Given the description of an element on the screen output the (x, y) to click on. 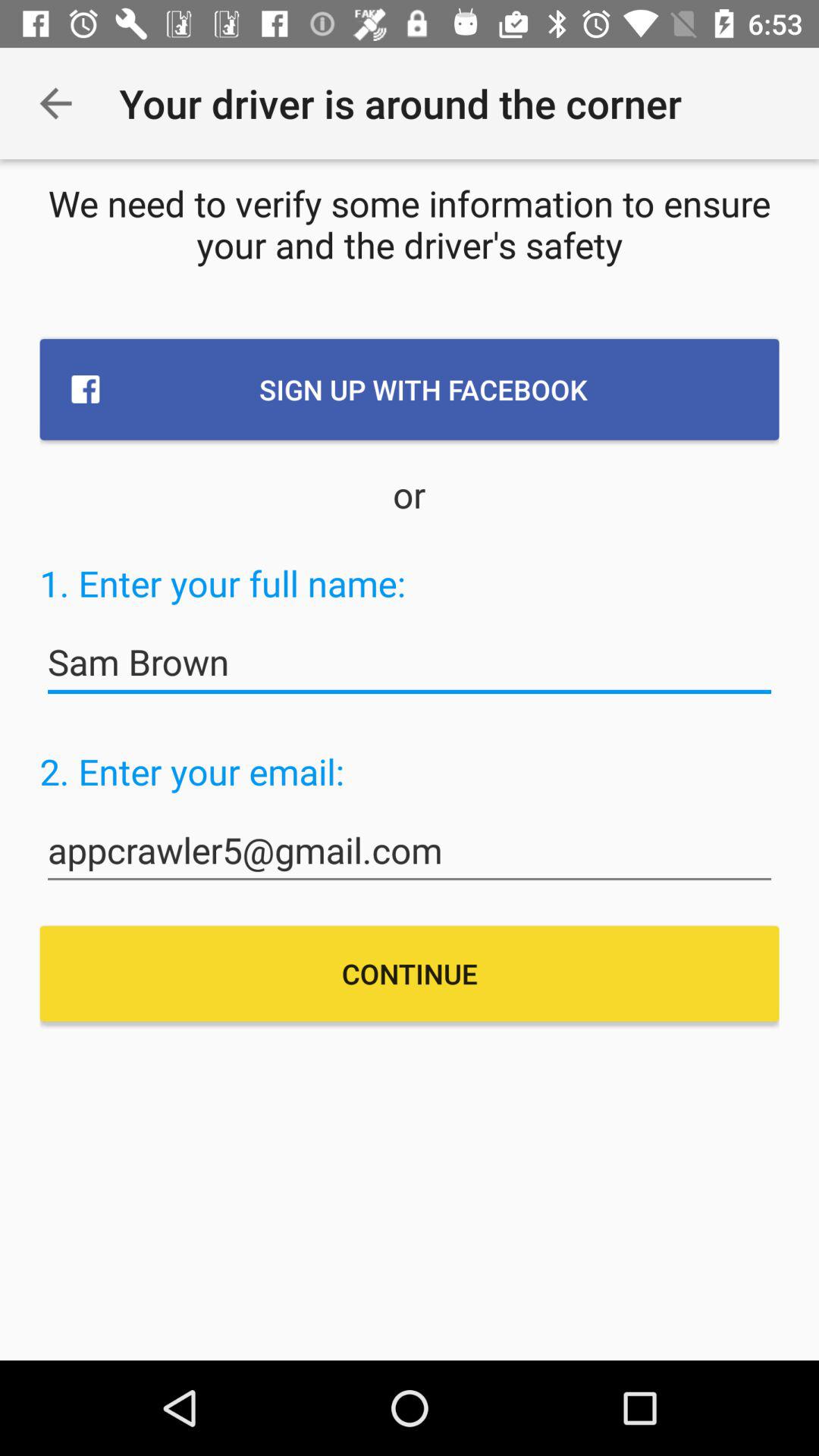
swipe to appcrawler5@gmail.com item (409, 850)
